Given the description of an element on the screen output the (x, y) to click on. 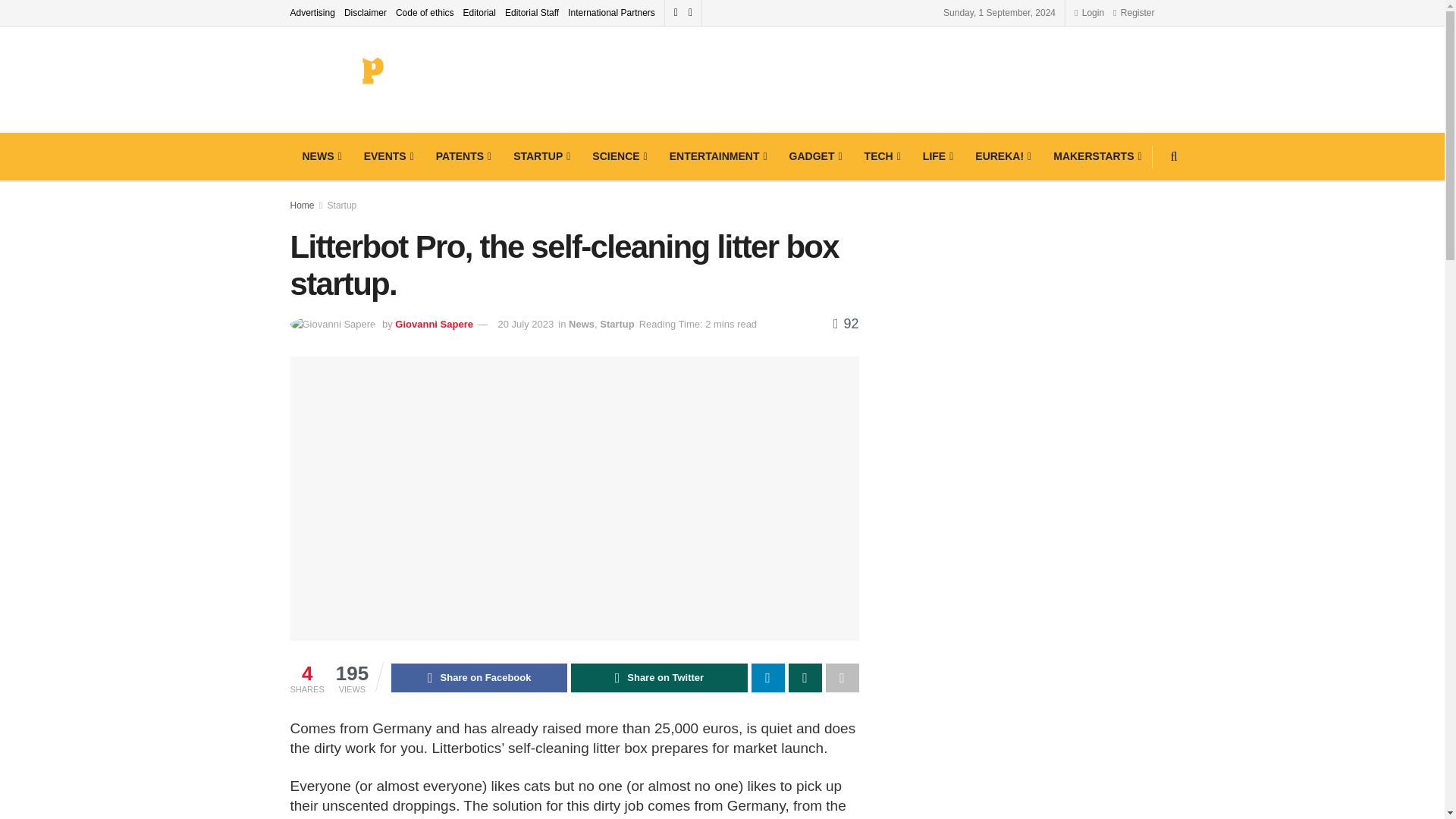
Register (1133, 12)
Editorial (479, 12)
NEWS (319, 156)
Advertising (311, 12)
PATENTS (461, 156)
Code of ethics (425, 12)
Disclaimer (365, 12)
Login (1088, 12)
Editorial Staff (532, 12)
International Partners (611, 12)
